Given the description of an element on the screen output the (x, y) to click on. 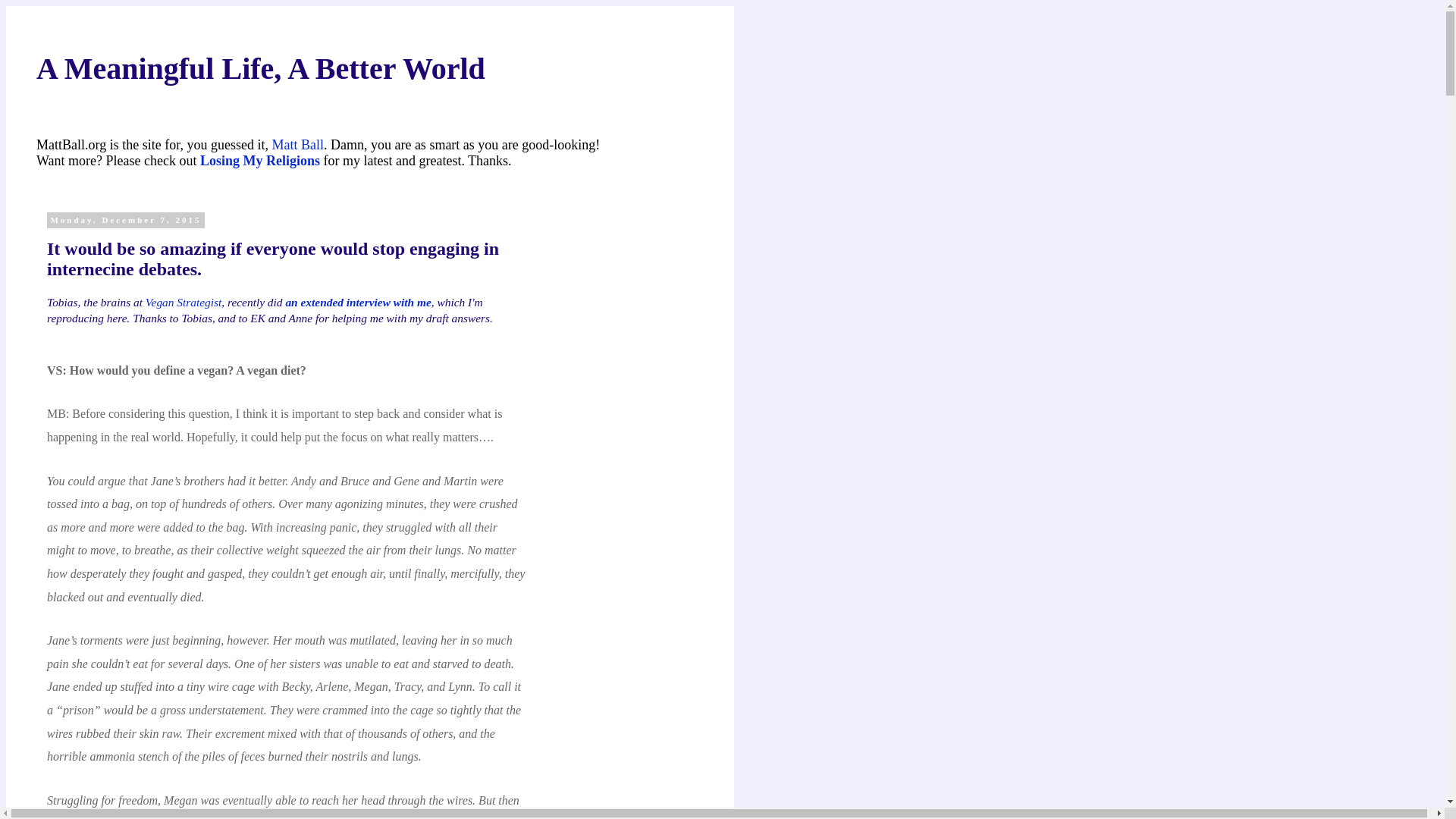
Vegan Strategist (183, 301)
Matt Ball (296, 144)
A Meaningful Life, A Better World (260, 68)
Losing My Religions (260, 160)
an extended interview with me (357, 301)
